Given the description of an element on the screen output the (x, y) to click on. 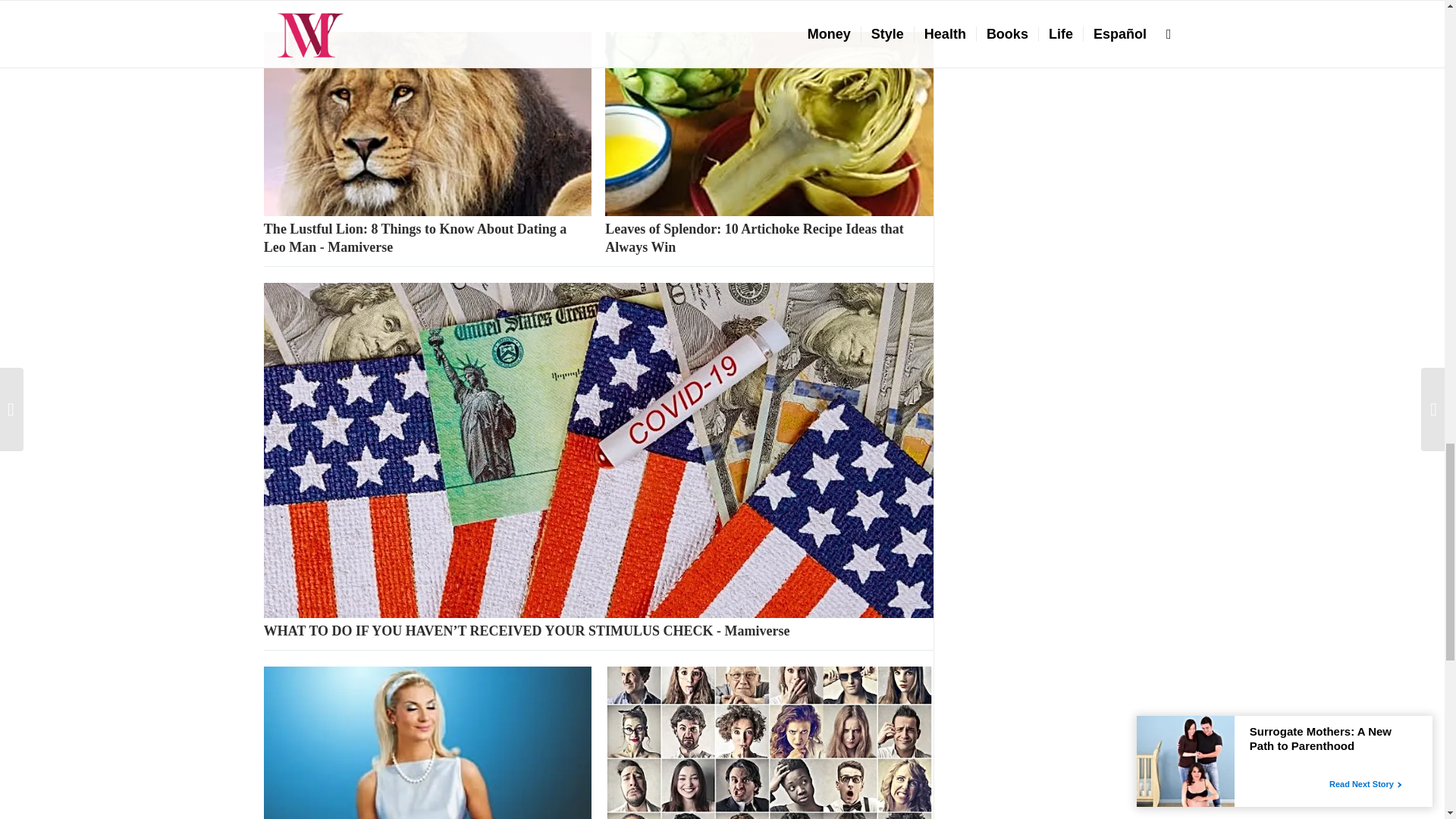
Install Now (292, 0)
